Given the description of an element on the screen output the (x, y) to click on. 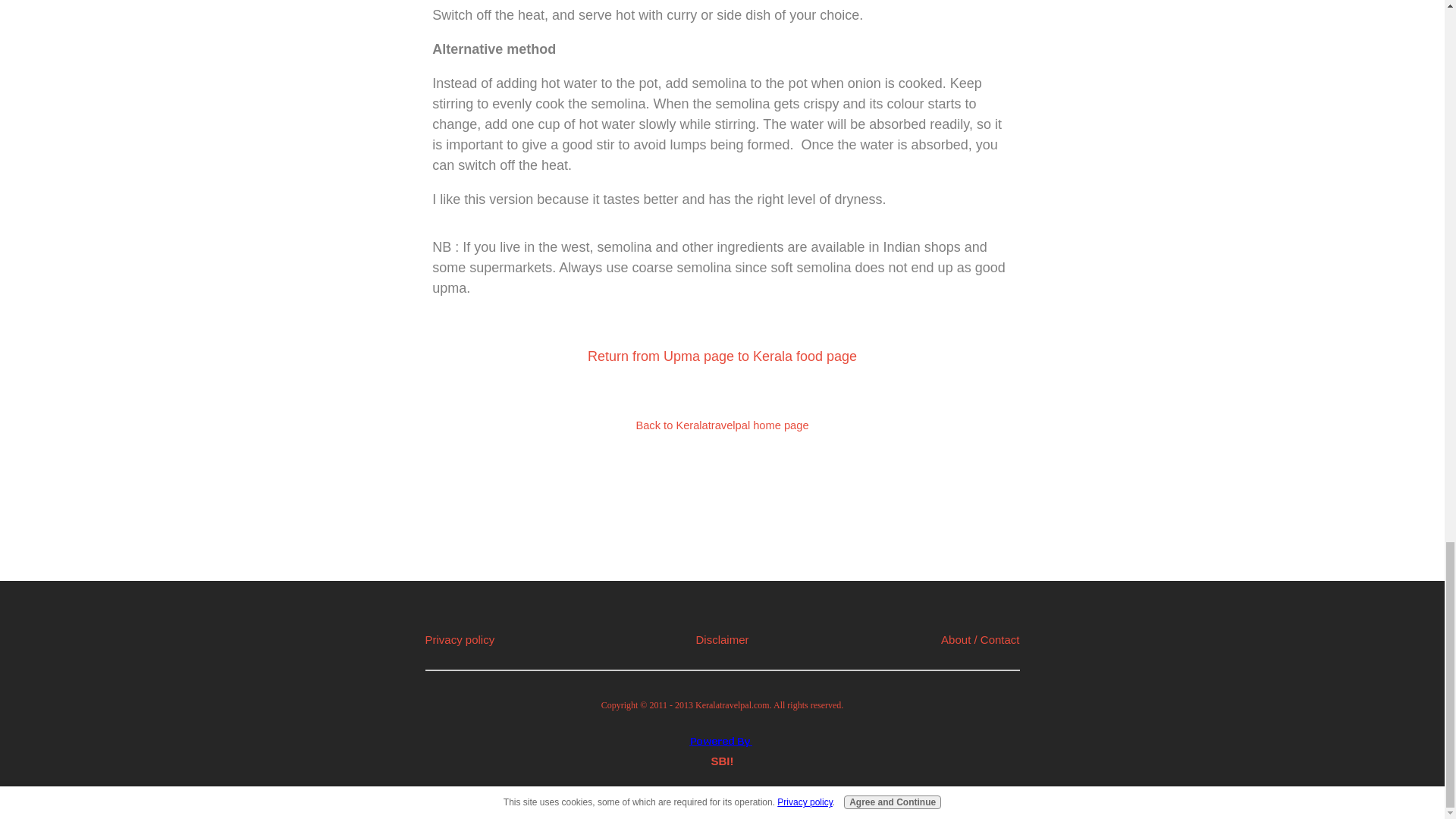
Back to Keralatravelpal home page (721, 424)
Return from Upma page to Kerala food page (722, 355)
Disclaimer (722, 639)
SBI! (722, 760)
Privacy policy (460, 639)
